Given the description of an element on the screen output the (x, y) to click on. 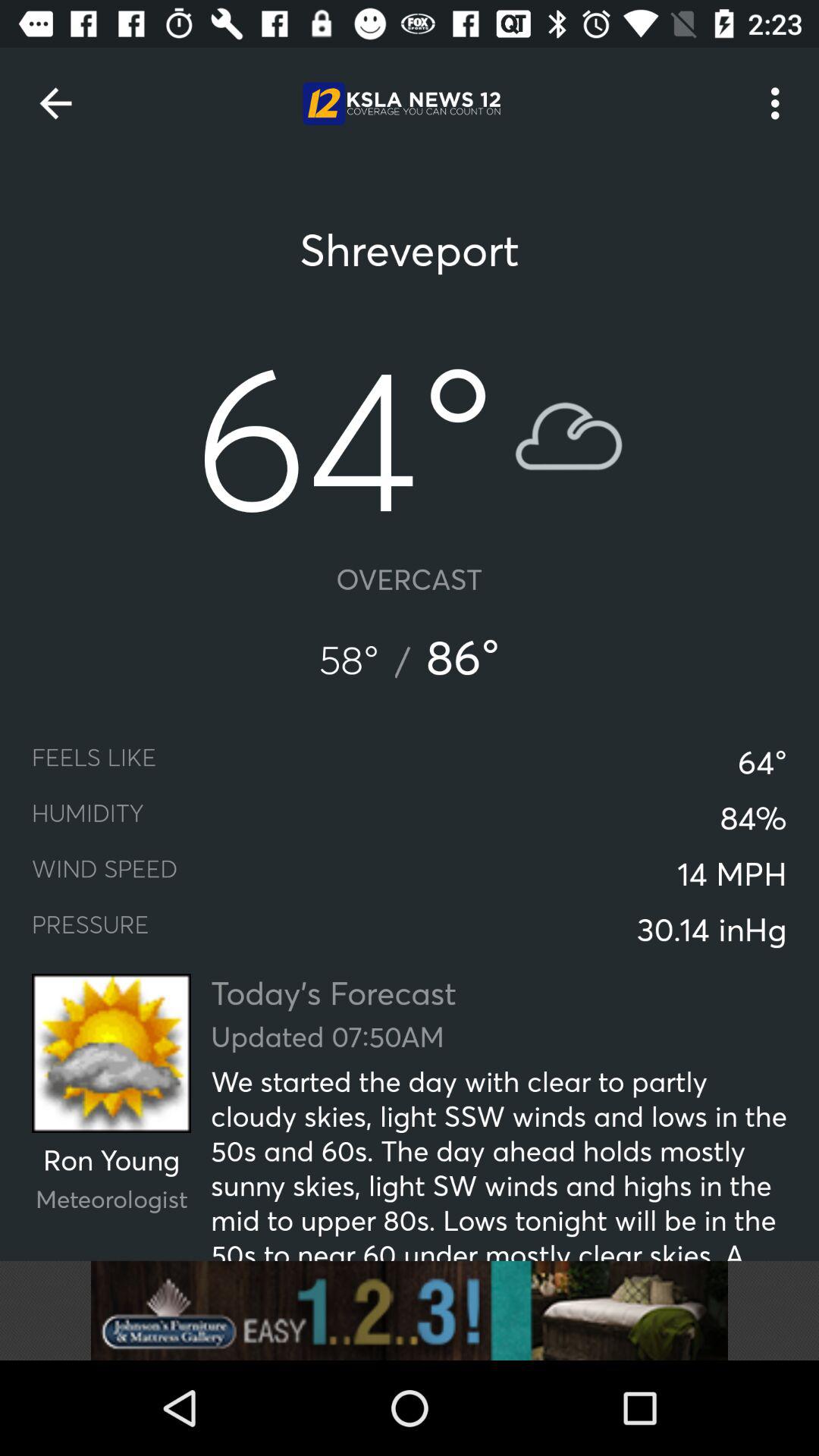
advertisement (409, 1310)
